Given the description of an element on the screen output the (x, y) to click on. 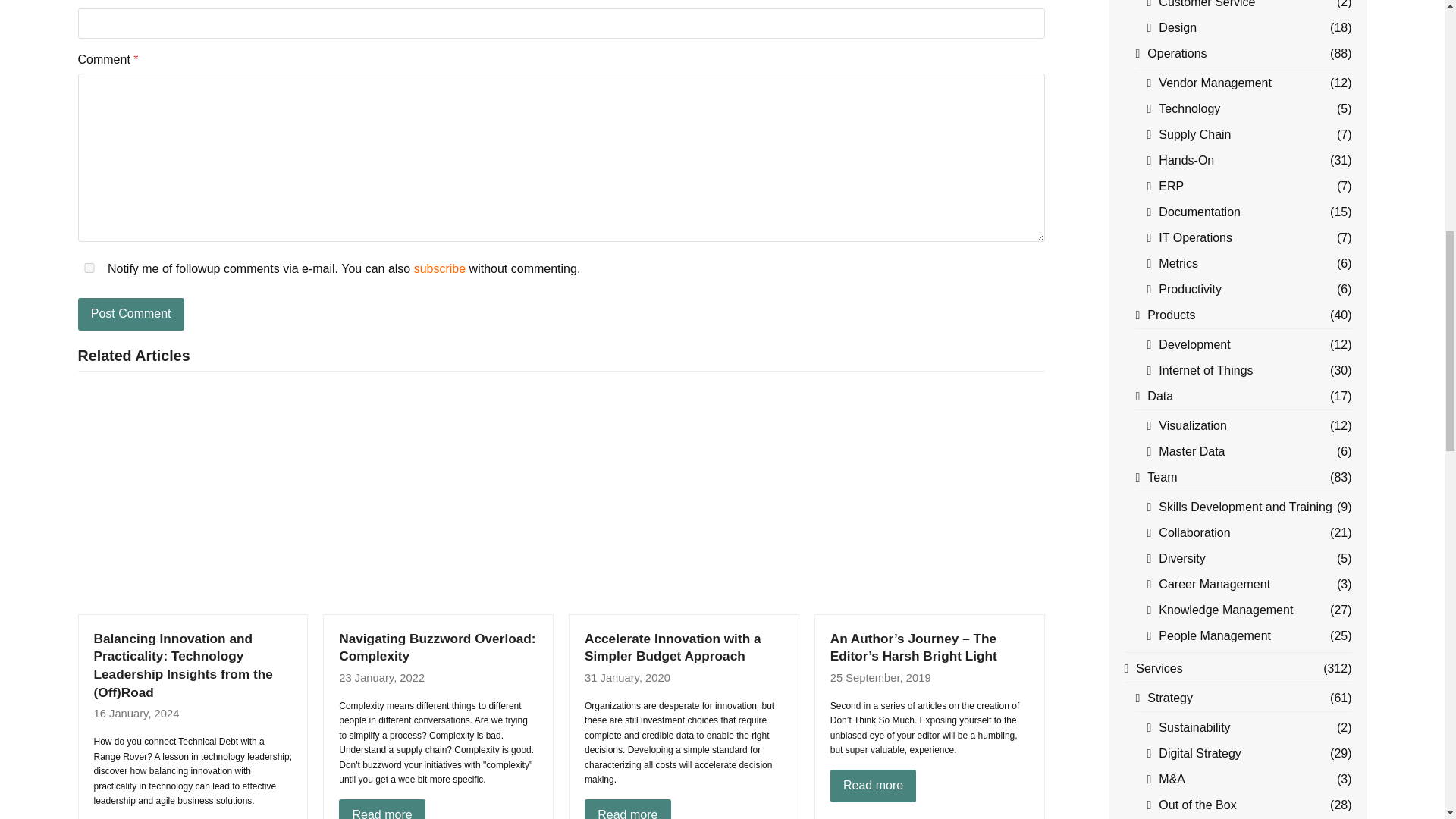
Navigating Buzzword Overload: Complexity (437, 647)
Read more (628, 809)
yes (88, 267)
subscribe (439, 268)
Accelerate Innovation with a Simpler Budget Approach (682, 499)
Post Comment (130, 314)
Read more (382, 809)
Post Comment (130, 314)
Accelerate Innovation with a Simpler Budget Approach (673, 647)
Read more (873, 786)
Navigating Buzzword Overload: Complexity (436, 499)
